Given the description of an element on the screen output the (x, y) to click on. 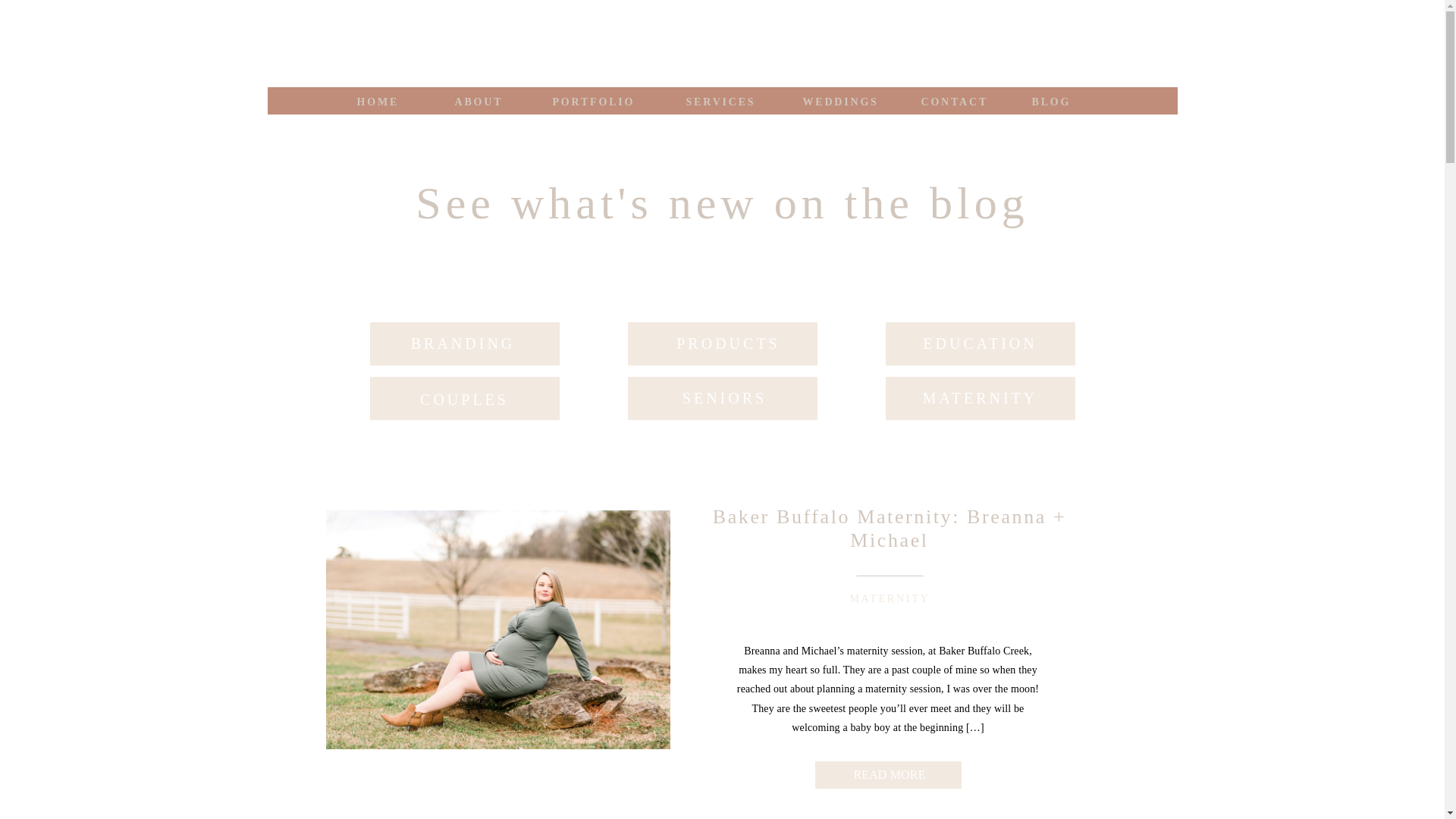
MATERNITY (889, 598)
PRODUCTS (727, 347)
MATERNITY (979, 402)
ABOUT (479, 100)
PORTFOLIO (598, 100)
EDUCATION (979, 347)
CONTACT (953, 100)
COUPLES (463, 401)
BRANDING (462, 345)
SENIORS (724, 402)
